Given the description of an element on the screen output the (x, y) to click on. 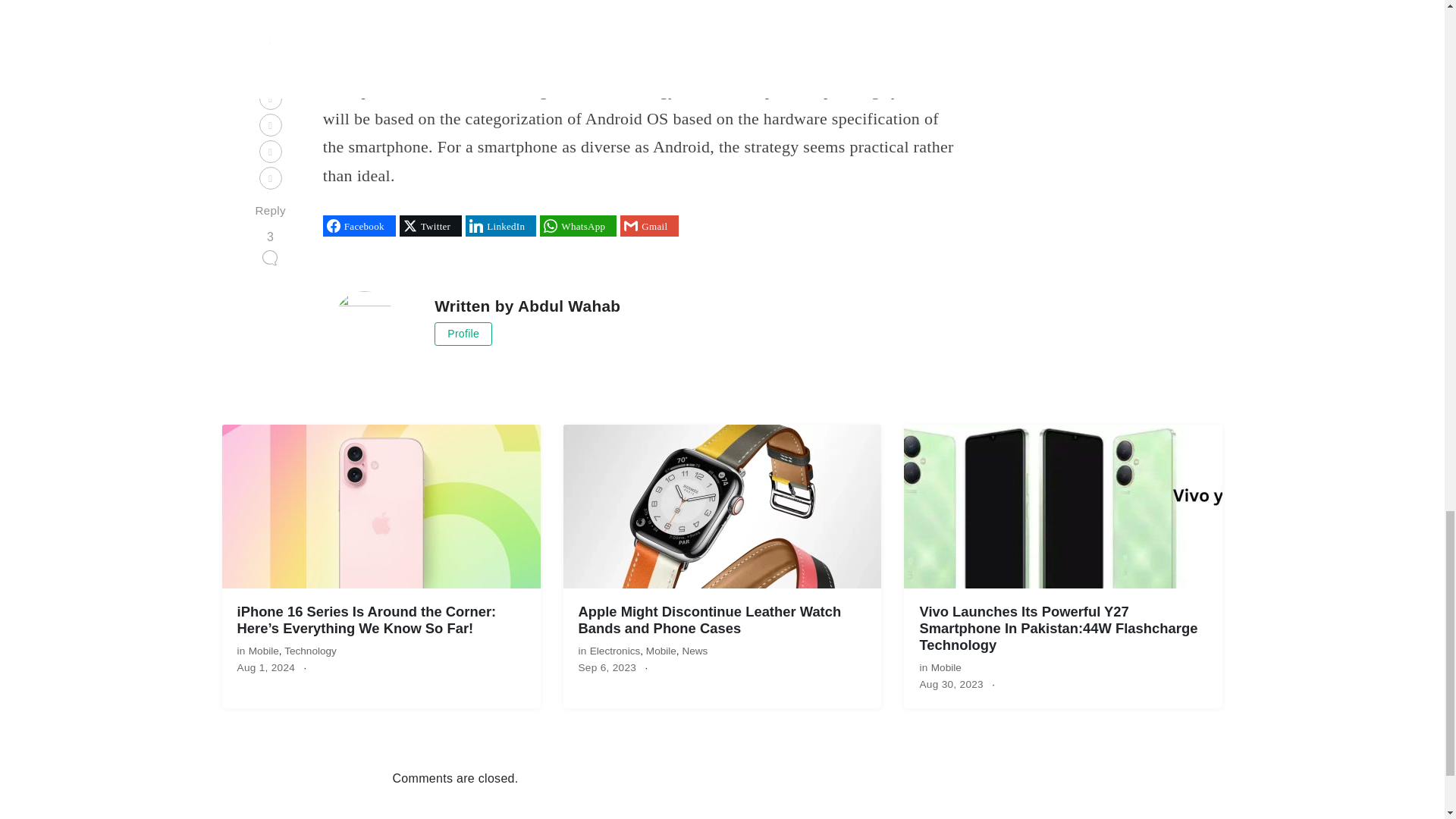
Share on Twitter (429, 225)
Share on Gmail (649, 225)
Share on LinkedIn (500, 225)
Share on Facebook (359, 225)
Share on WhatsApp (577, 225)
